Given the description of an element on the screen output the (x, y) to click on. 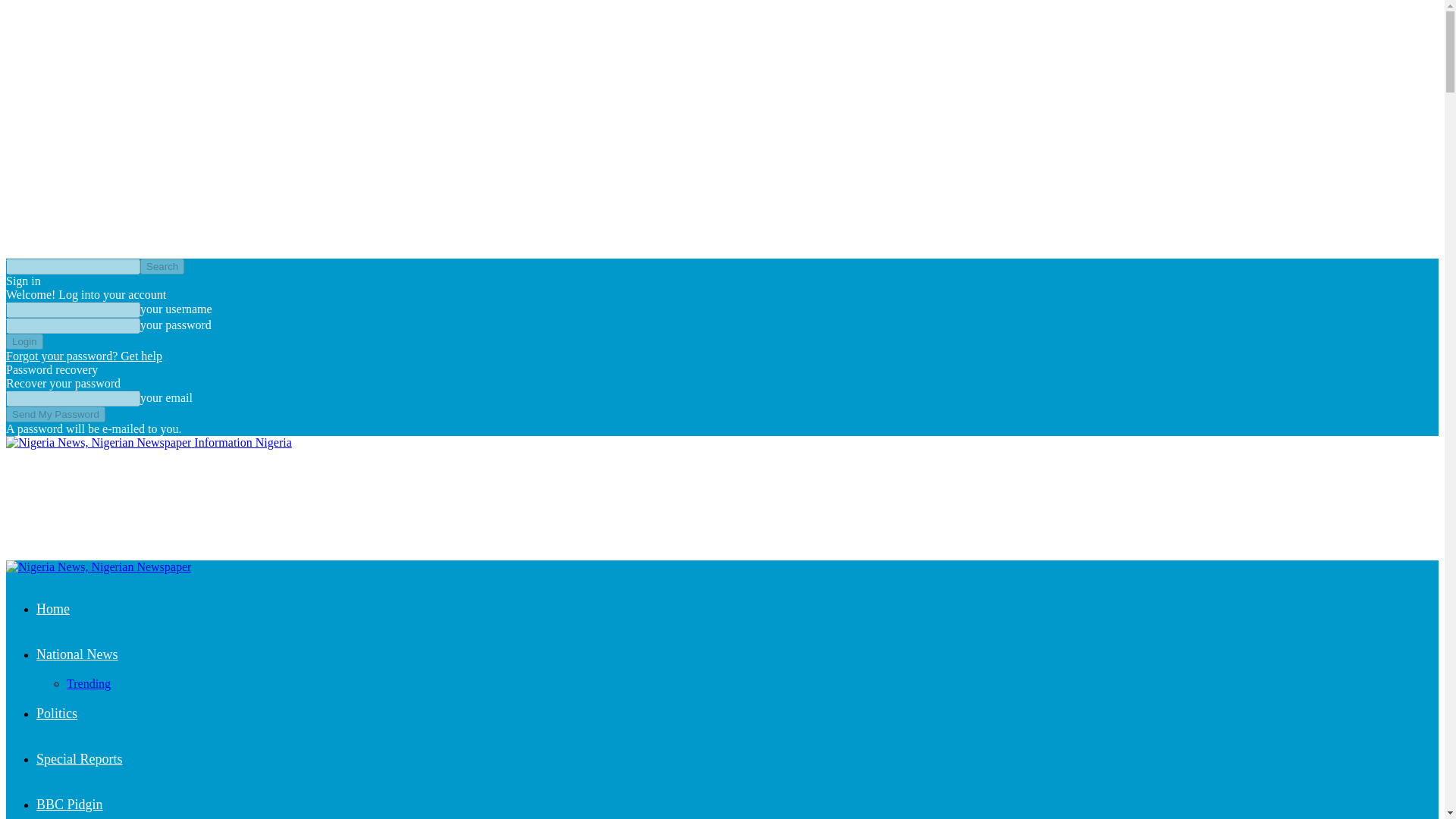
Trending (88, 683)
Politics (56, 713)
Special Reports (79, 758)
Login (24, 341)
BBC Pidgin (69, 804)
Nigeria News, Nigerian Newspaper (97, 442)
Search (161, 266)
Search (161, 266)
Forgot your password? Get help (83, 355)
Nigeria News, Nigerian Newspaper (97, 567)
Send My Password (54, 414)
Information Nigeria (148, 441)
Home (52, 608)
National News (76, 654)
